Given the description of an element on the screen output the (x, y) to click on. 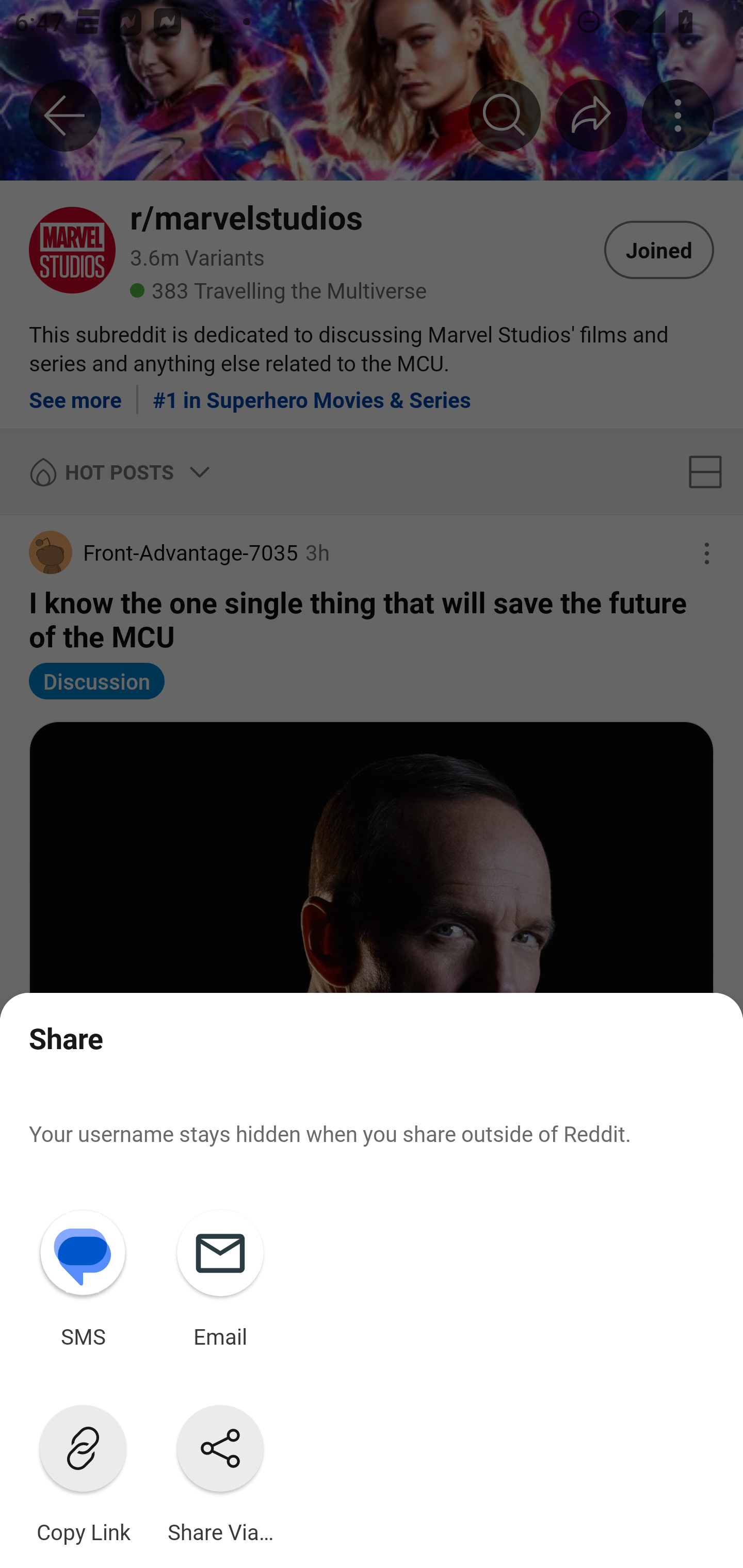
SMS (82, 1274)
Email (220, 1274)
Copy Link (82, 1470)
Share Via… (220, 1470)
